Given the description of an element on the screen output the (x, y) to click on. 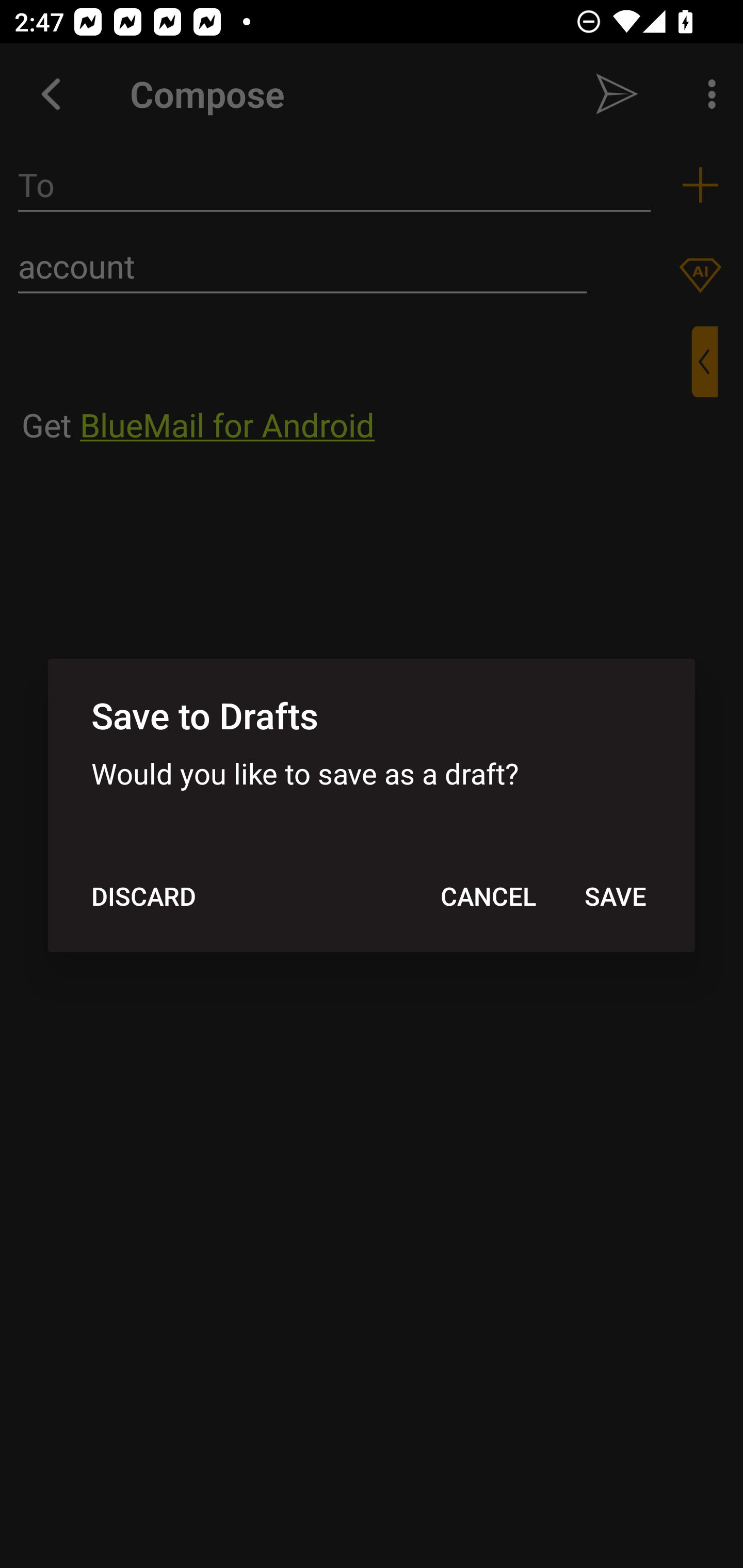
DISCARD (143, 895)
CANCEL (488, 895)
SAVE (615, 895)
